Given the description of an element on the screen output the (x, y) to click on. 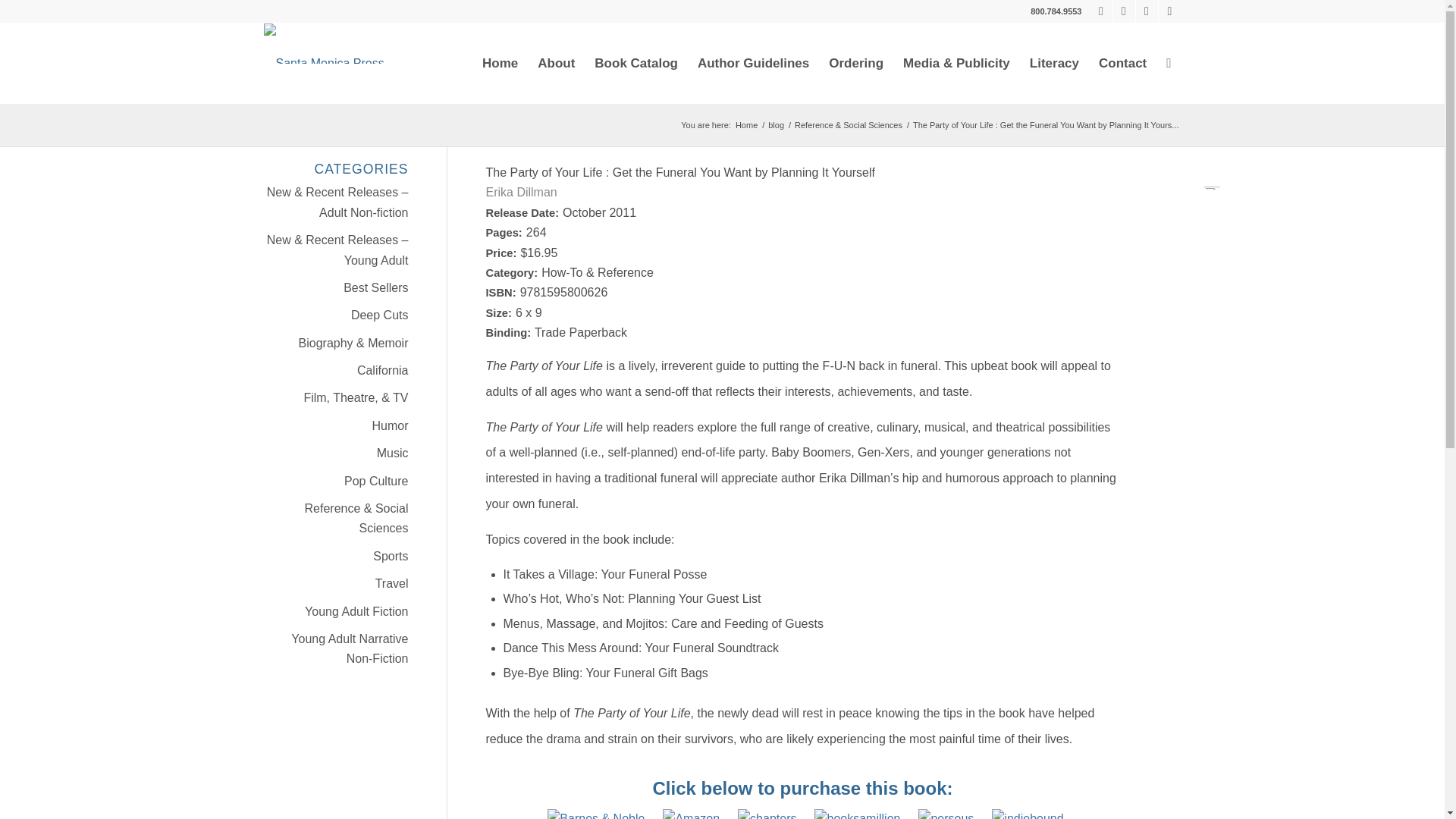
blog (775, 125)
Pinterest (1146, 11)
Book Catalog (636, 63)
Home (746, 125)
X (1124, 11)
Santa Monica Press (746, 125)
Author Guidelines (752, 63)
Facebook (1101, 11)
blog (775, 125)
Instagram (1169, 11)
